Given the description of an element on the screen output the (x, y) to click on. 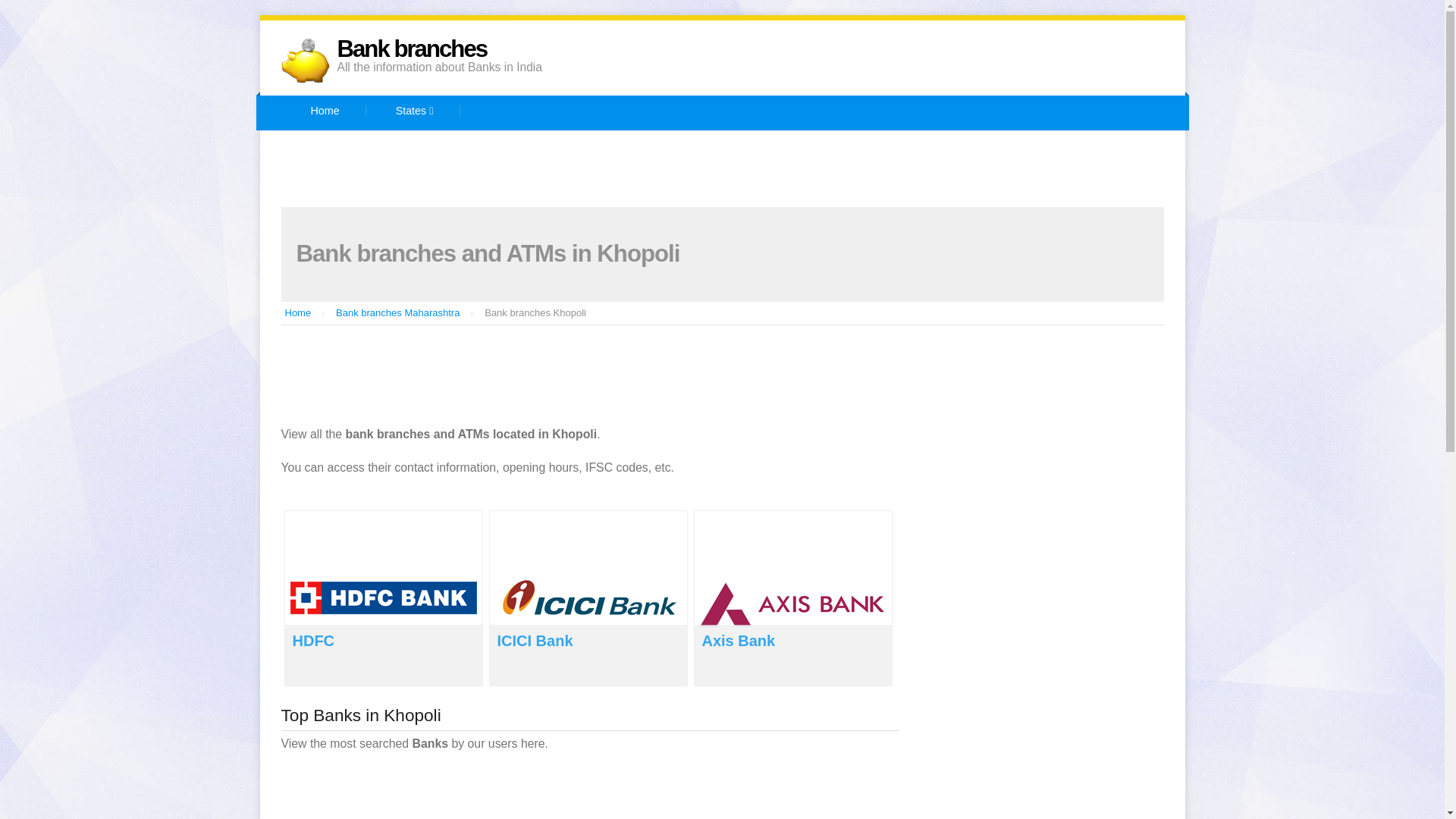
ICICI Bank (535, 640)
Axis Bank (598, 149)
Home (324, 112)
Citibank (817, 149)
HDFC (313, 640)
ICICI Bank (1004, 149)
Bank branches Maharashtra (398, 312)
Kotak (350, 187)
Bank branches (411, 49)
HDFC (907, 149)
